Given the description of an element on the screen output the (x, y) to click on. 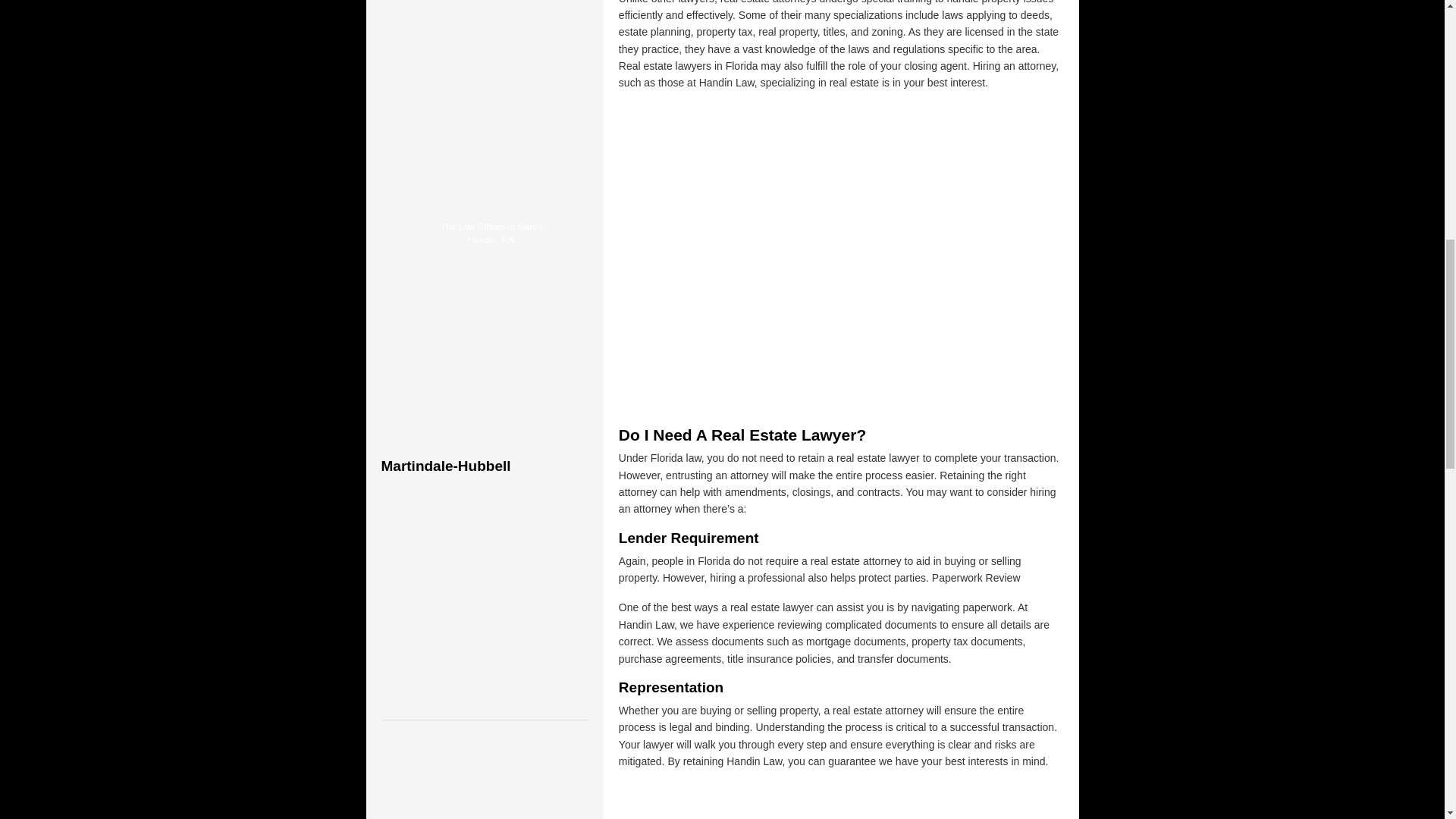
LOC8NEARME (496, 190)
The Law Offices of Gary I. Handin, P.A. (491, 233)
